Given the description of an element on the screen output the (x, y) to click on. 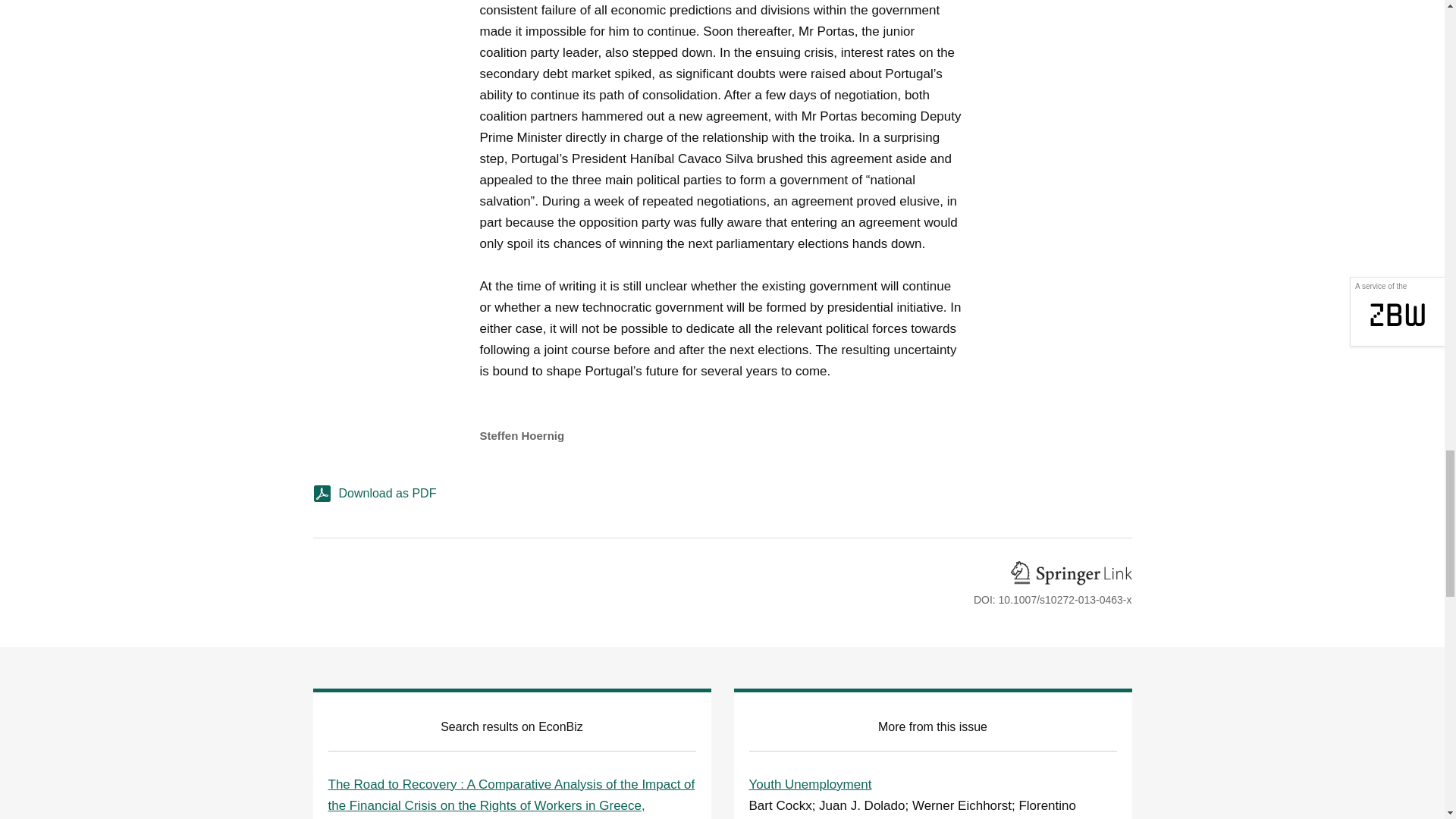
Download as PDF (722, 499)
Youth Unemployment (810, 783)
